Given the description of an element on the screen output the (x, y) to click on. 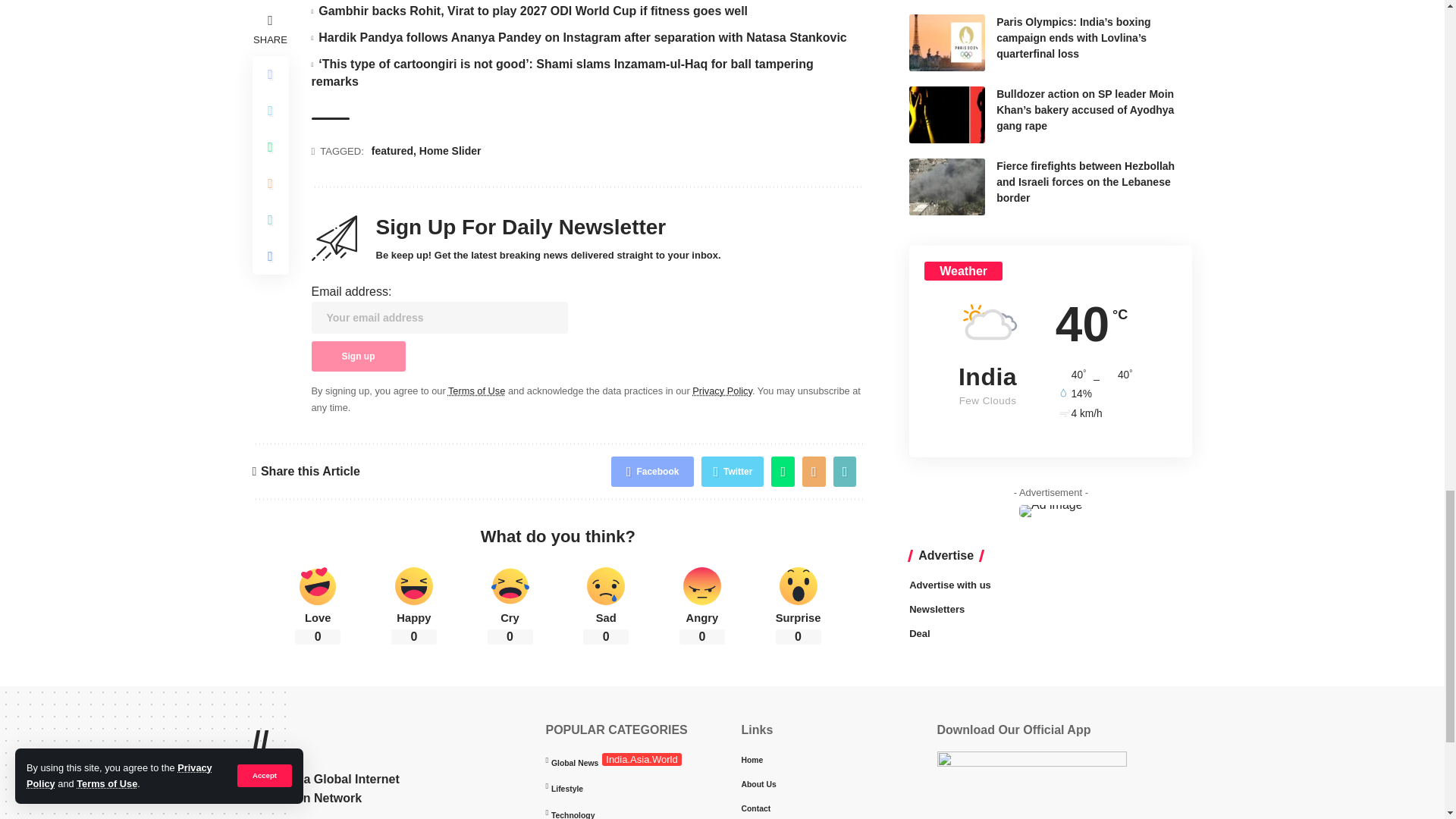
Sign up (357, 356)
